Given the description of an element on the screen output the (x, y) to click on. 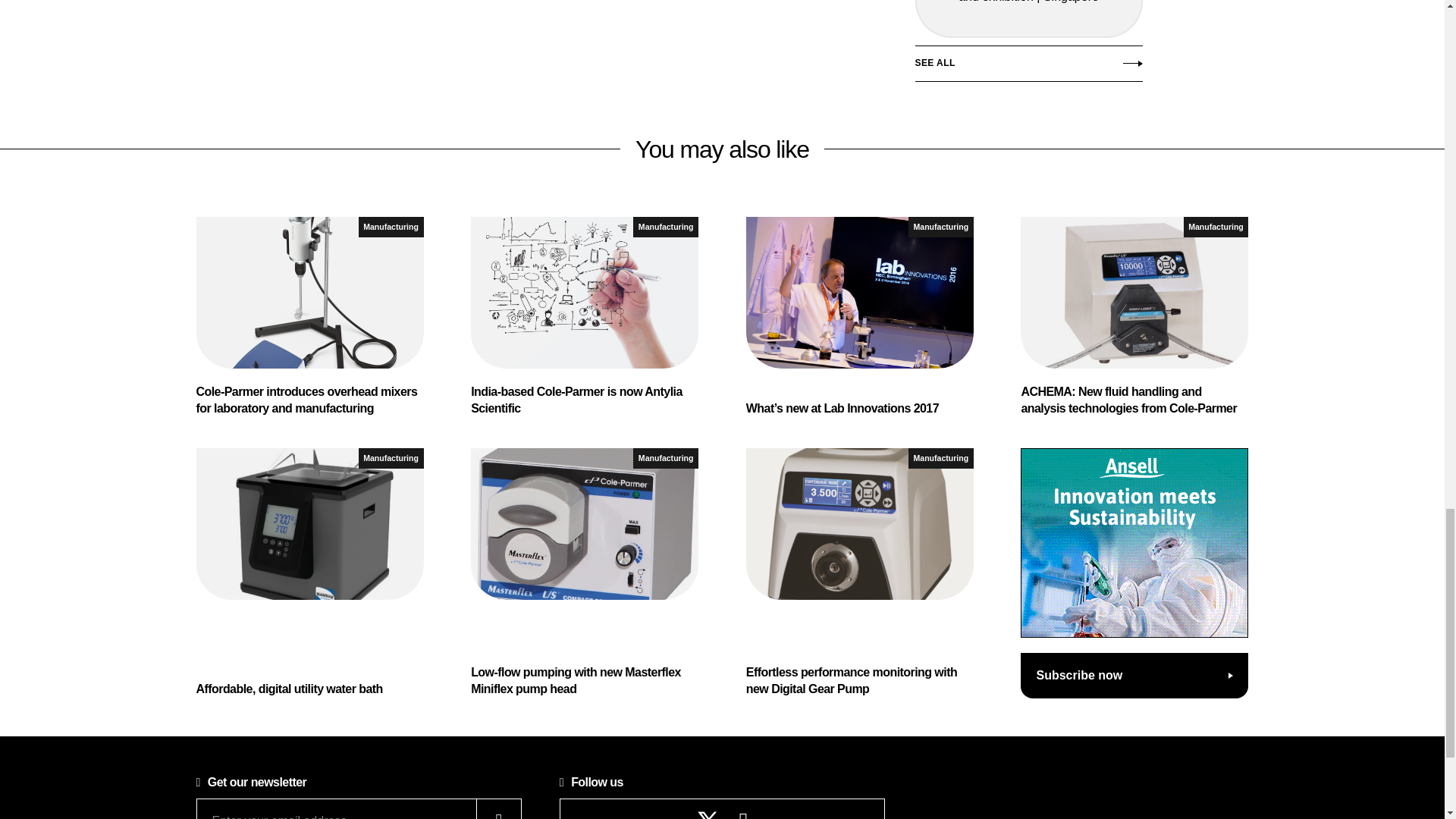
Manufacturing (665, 227)
SEE ALL (1027, 67)
India-based Cole-Parmer is now Antylia Scientific (584, 317)
Follow Manufacturing Chemist on X (708, 814)
Manufacturing (390, 227)
